Given the description of an element on the screen output the (x, y) to click on. 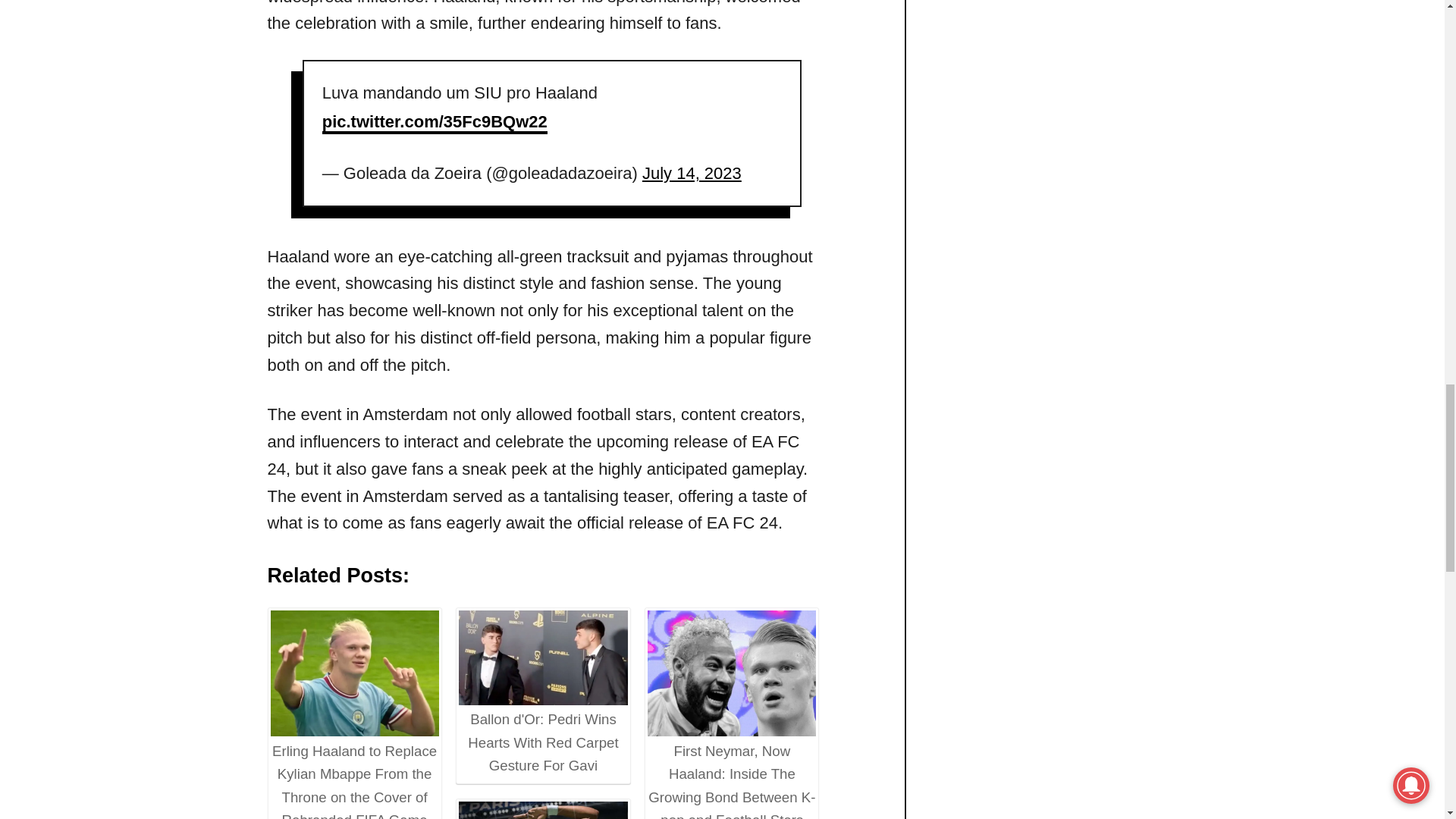
July 14, 2023 (691, 172)
